Given the description of an element on the screen output the (x, y) to click on. 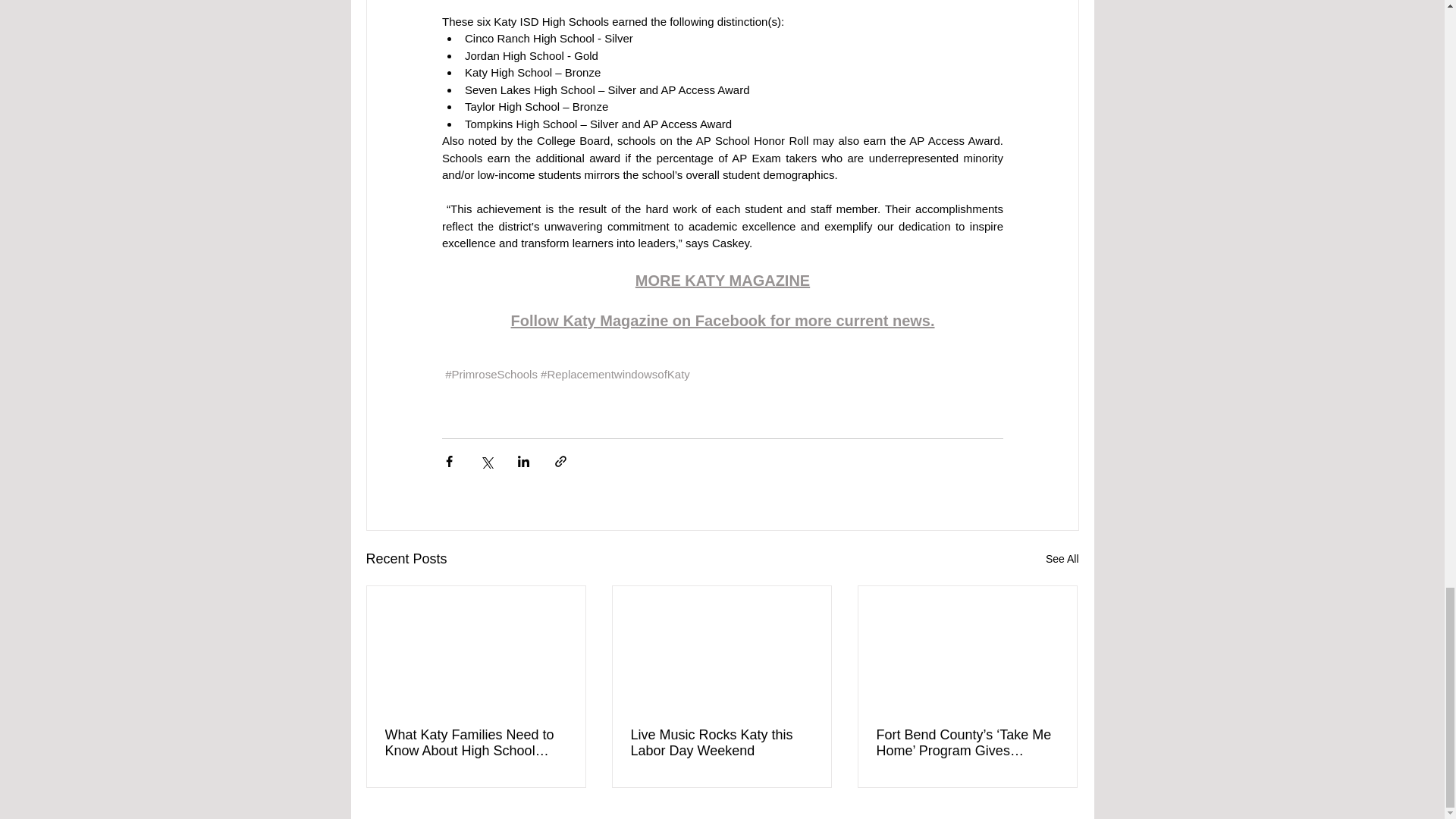
Live Music Rocks Katy this Labor Day Weekend (721, 743)
See All (1061, 558)
Follow Katy Magazine on Facebook for more current news. (722, 320)
MORE KATY MAGAZINE (721, 280)
